Given the description of an element on the screen output the (x, y) to click on. 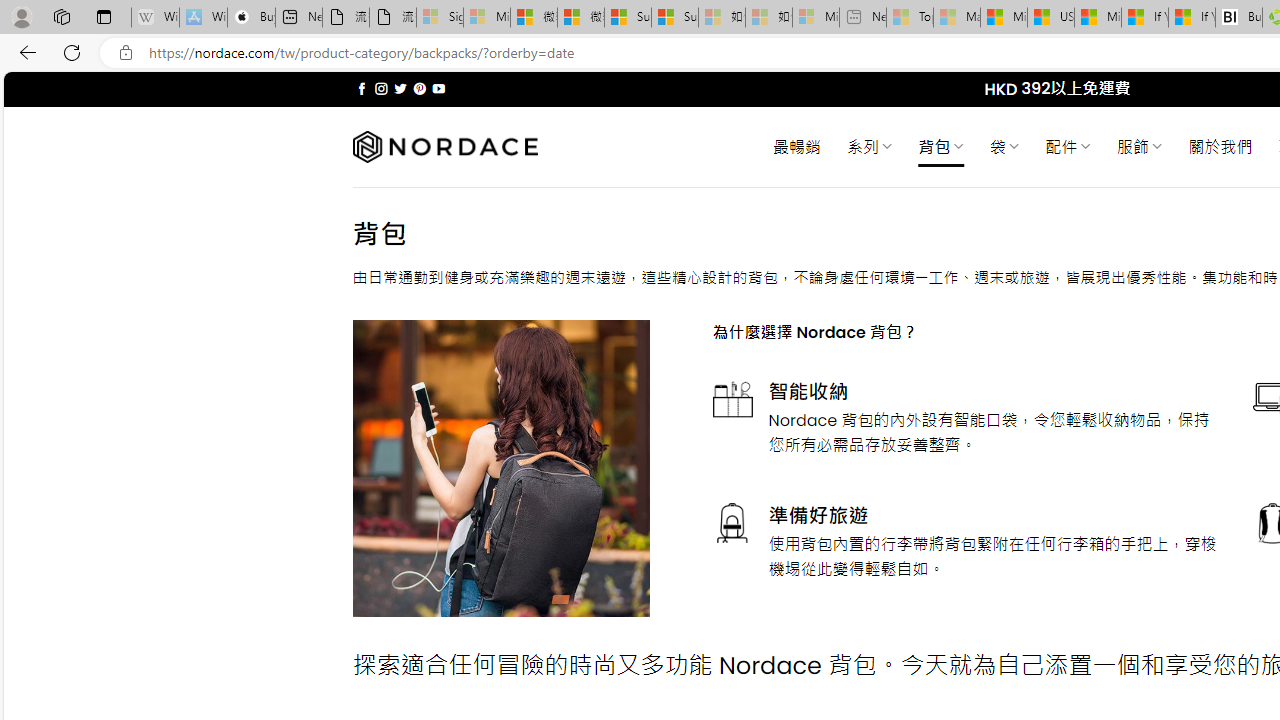
Marine life - MSN - Sleeping (957, 17)
Microsoft account | Account Checkup - Sleeping (815, 17)
Follow on Twitter (400, 88)
